Given the description of an element on the screen output the (x, y) to click on. 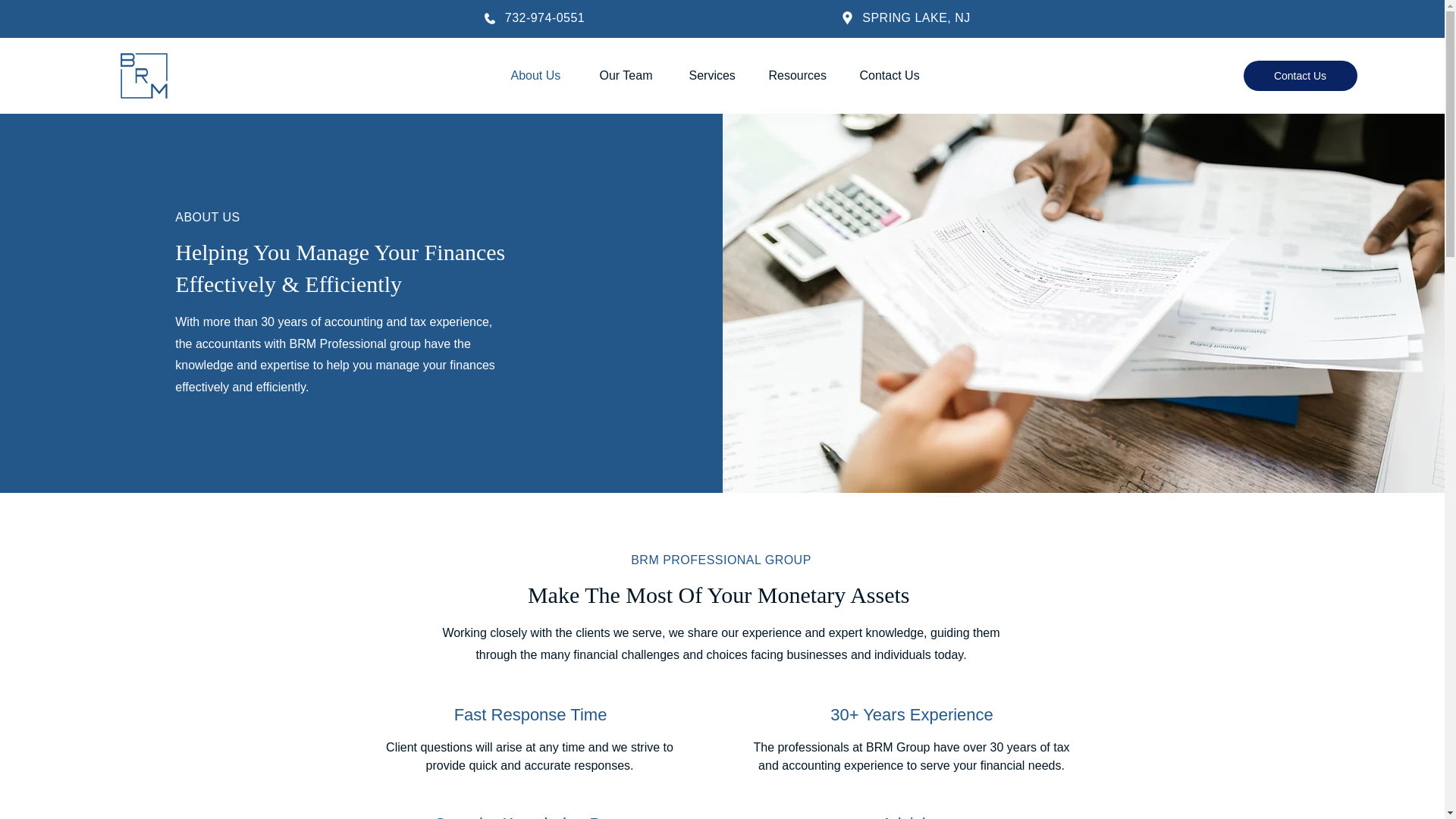
About Us (543, 75)
Resources (802, 75)
Contact Us (895, 75)
732-974-0551 (545, 17)
Contact Us (1299, 75)
SPRING LAKE, NJ (915, 17)
Services (717, 75)
Our Team (633, 75)
